Given the description of an element on the screen output the (x, y) to click on. 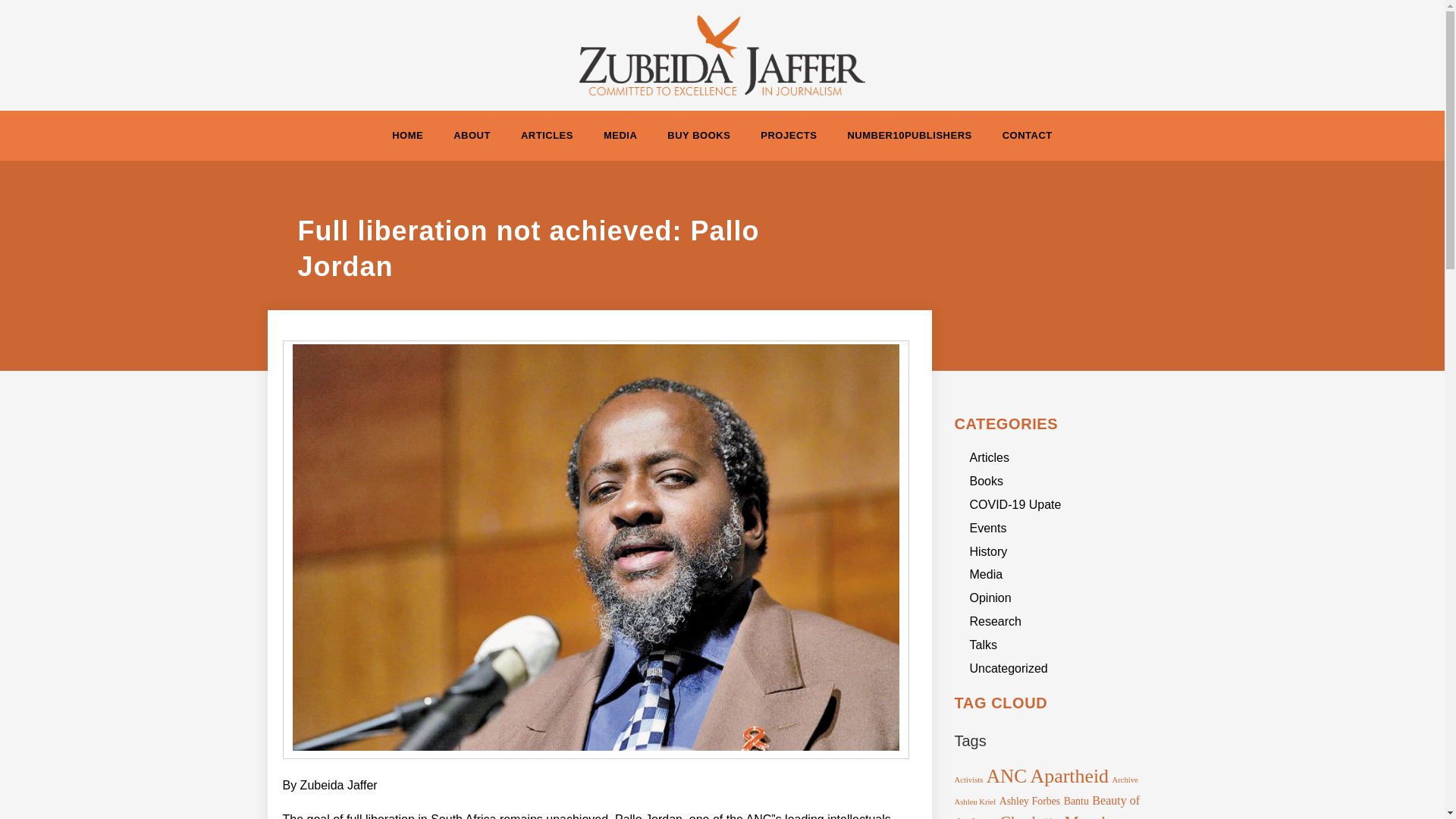
MEDIA (620, 135)
ARTICLES (546, 135)
PROJECTS (788, 135)
BUY BOOKS (698, 135)
HOME (407, 135)
ABOUT (471, 135)
NUMBER10PUBLISHERS (909, 135)
CONTACT (1027, 135)
